Given the description of an element on the screen output the (x, y) to click on. 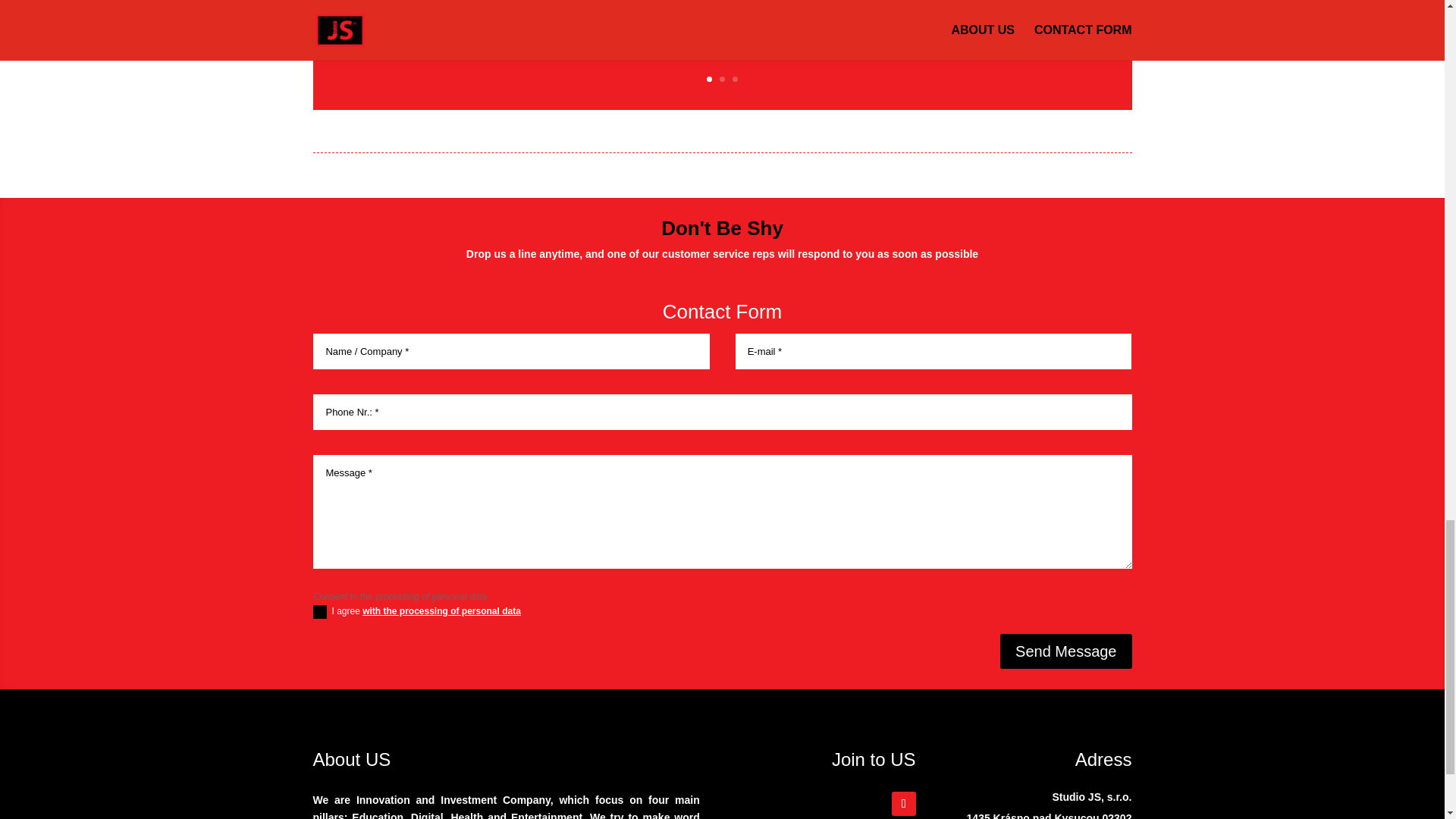
Send Message (1065, 651)
Sledujte Facebook (903, 803)
with the processing of personal data (441, 611)
